Given the description of an element on the screen output the (x, y) to click on. 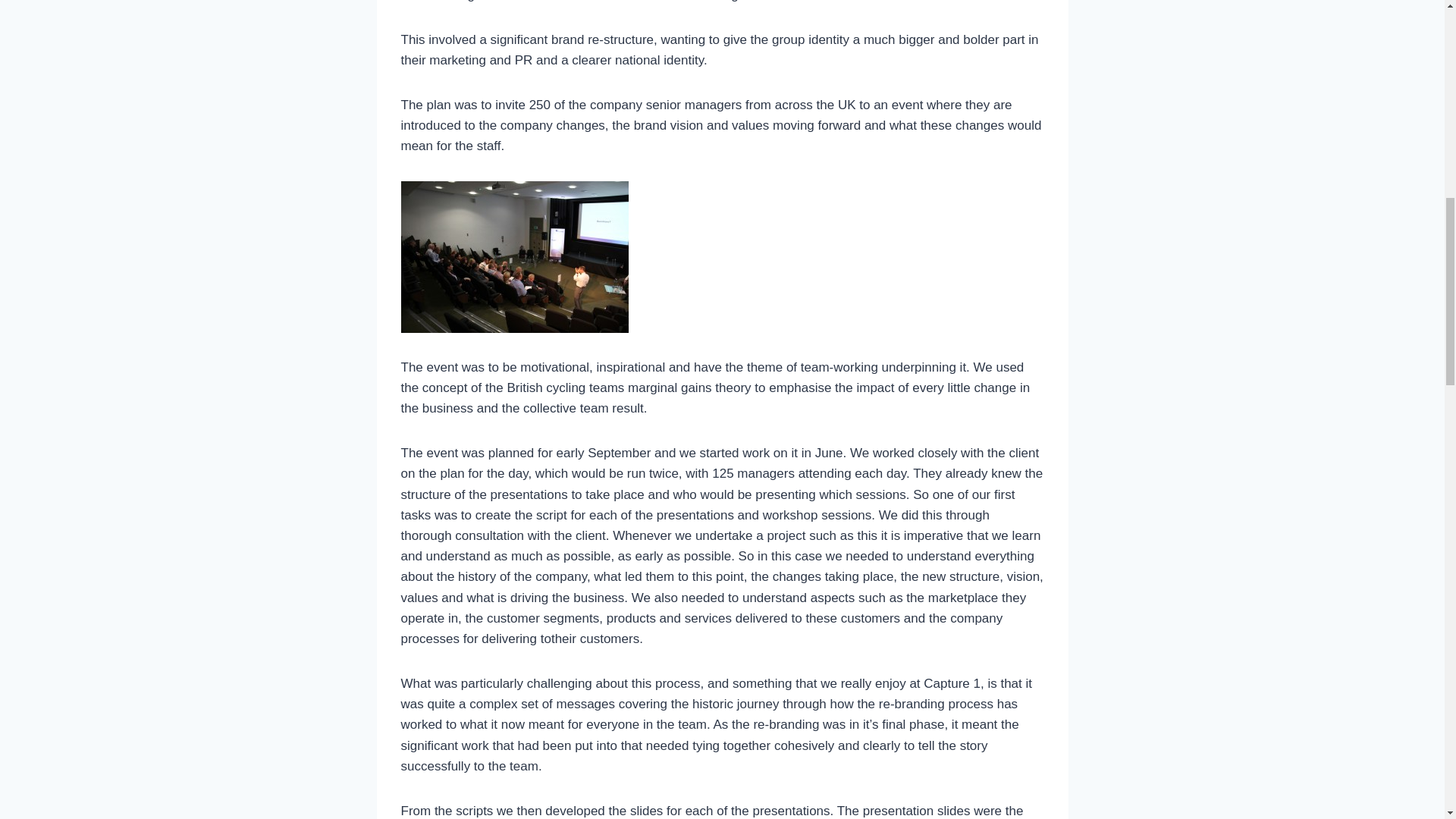
brand re-launch event company presentation (513, 256)
